Given the description of an element on the screen output the (x, y) to click on. 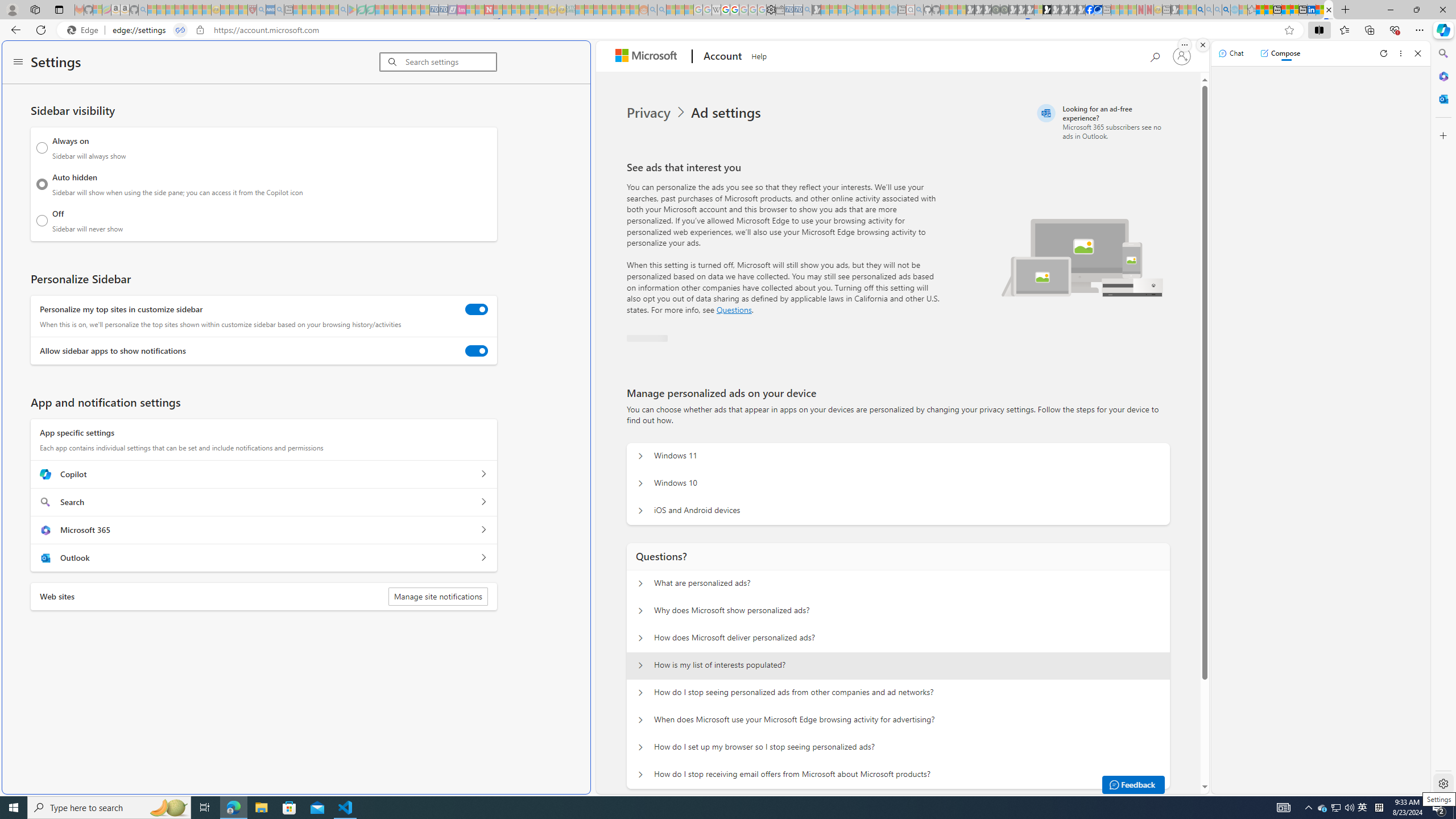
Chat (1230, 52)
Copilot (483, 474)
Questions? What are personalized ads? (640, 583)
Future Focus Report 2024 - Sleeping (1004, 9)
Looking for an ad-free experience? (1101, 122)
